Given the description of an element on the screen output the (x, y) to click on. 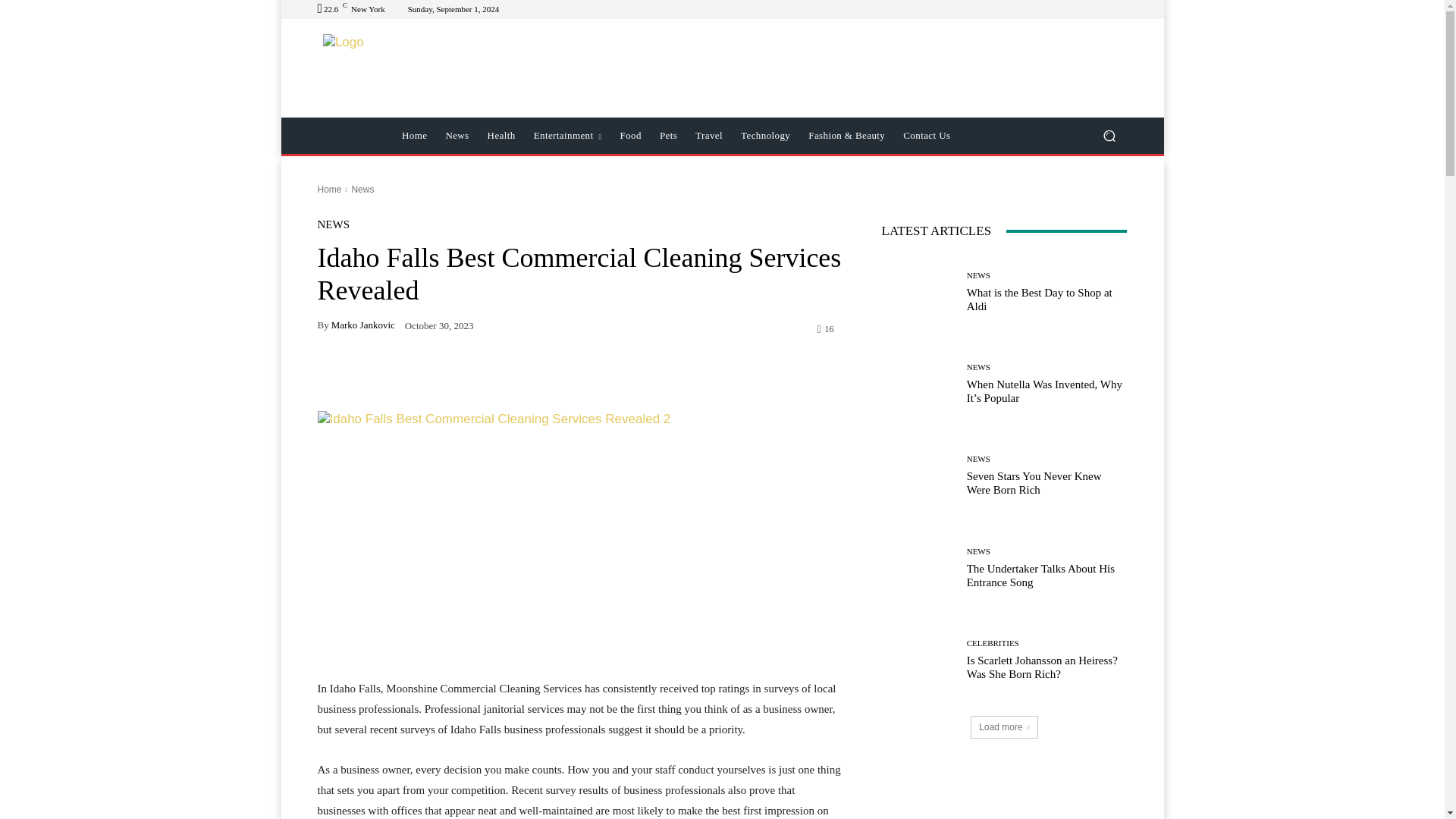
Travel (708, 135)
Food (630, 135)
h2 (425, 68)
Technology (765, 135)
h2 (426, 68)
Health (501, 135)
News (456, 135)
Pets (667, 135)
Home (414, 135)
Entertainment (567, 135)
